Given the description of an element on the screen output the (x, y) to click on. 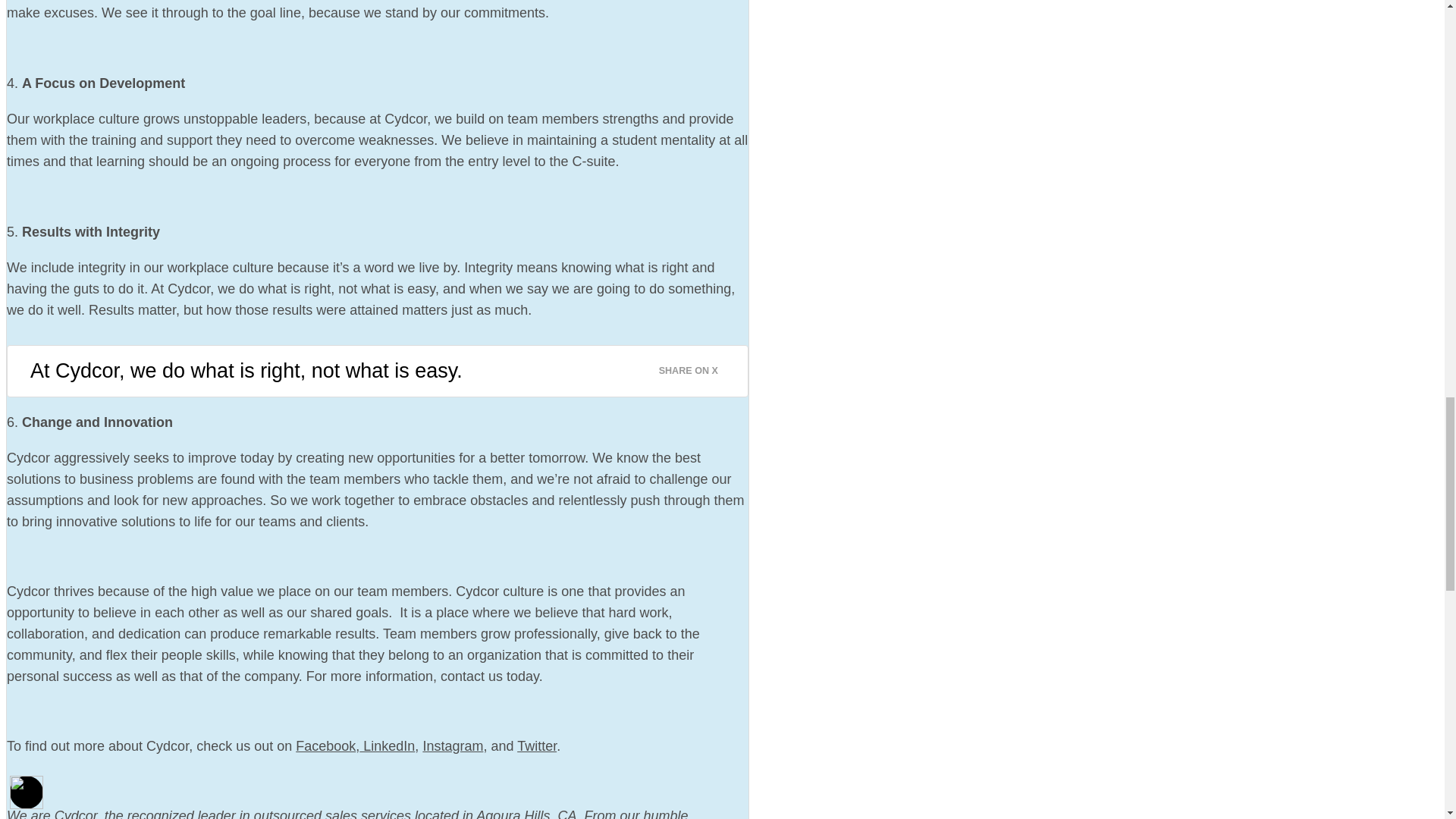
Facebook (325, 745)
SHARE ON X (697, 366)
At Cydcor, we do what is right, not what is easy. (246, 370)
LinkedIn (386, 745)
Cydcor (76, 813)
Twitter (536, 745)
Instagram (452, 745)
